Given the description of an element on the screen output the (x, y) to click on. 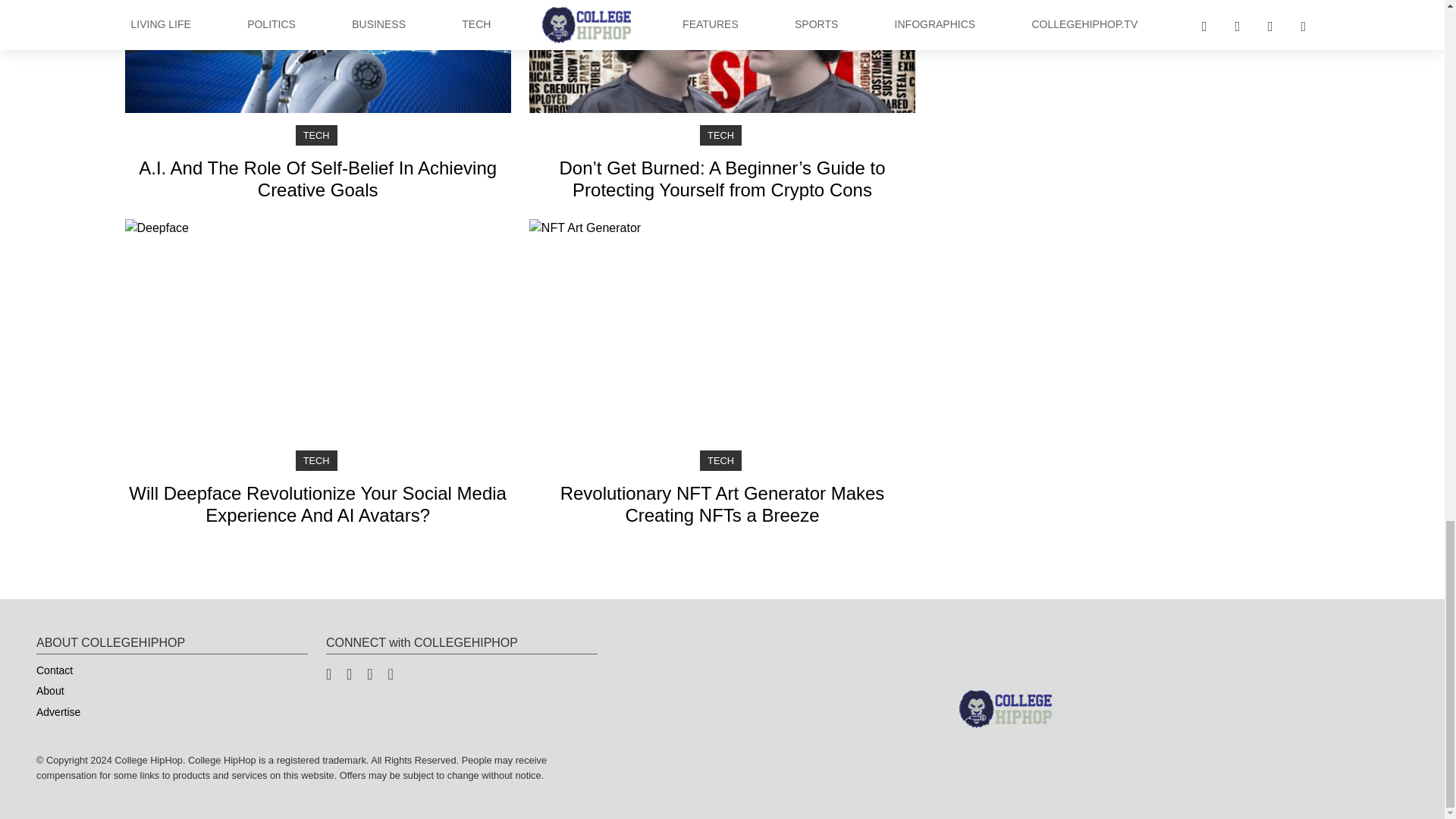
Advertise (58, 712)
Contact (54, 670)
About (50, 690)
